Given the description of an element on the screen output the (x, y) to click on. 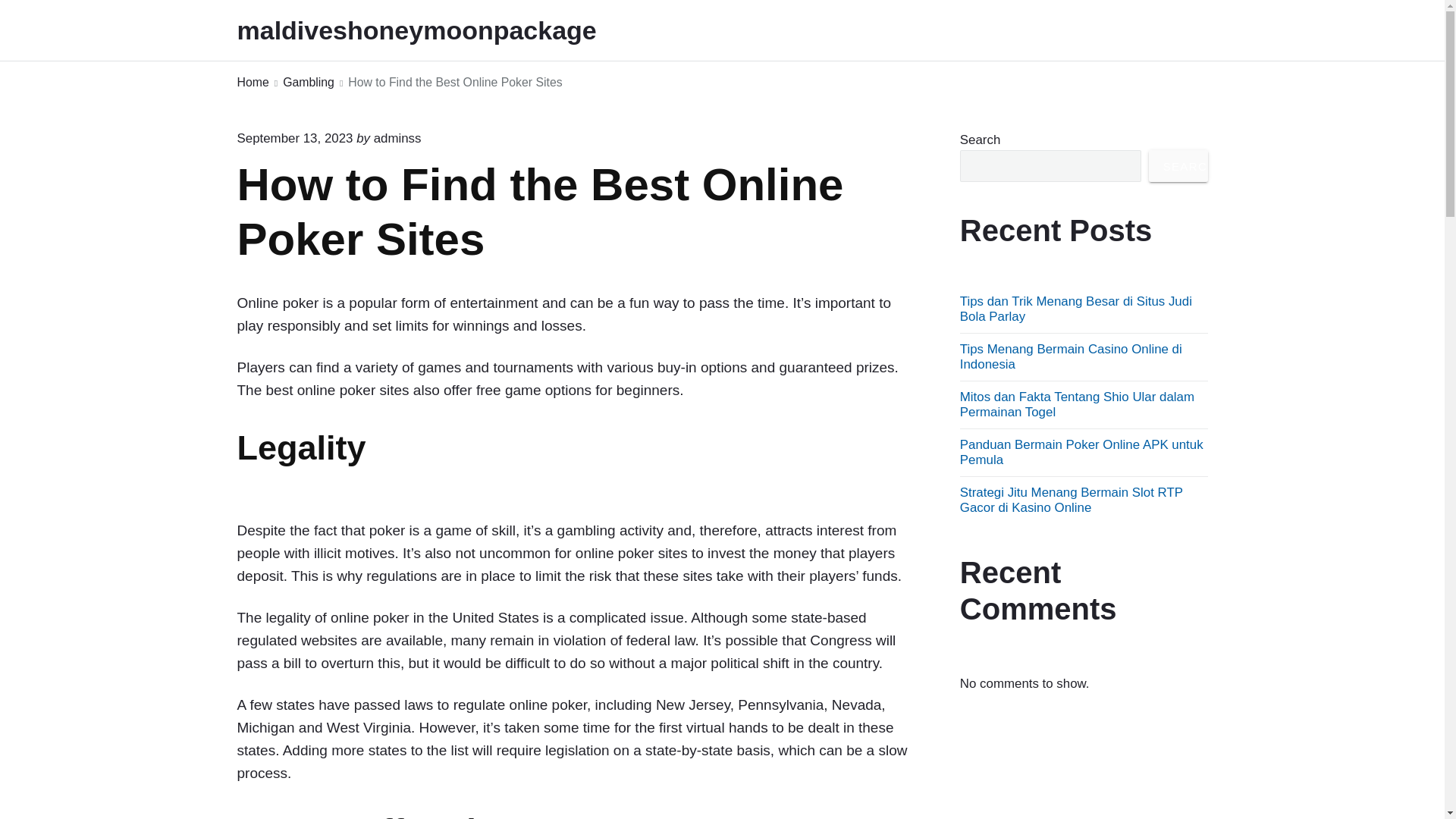
Gambling (308, 82)
SEARCH (1178, 165)
Tips dan Trik Menang Besar di Situs Judi Bola Parlay (1075, 308)
Mitos dan Fakta Tentang Shio Ular dalam Permainan Togel (1076, 404)
adminss (398, 138)
Posts by adminss (398, 138)
Home (251, 82)
Panduan Bermain Poker Online APK untuk Pemula (1081, 451)
Strategi Jitu Menang Bermain Slot RTP Gacor di Kasino Online (1070, 500)
Tips Menang Bermain Casino Online di Indonesia (1070, 356)
Wednesday, September 13, 2023, 8:02 pm (293, 138)
maldiveshoneymoonpackage (436, 30)
